Given the description of an element on the screen output the (x, y) to click on. 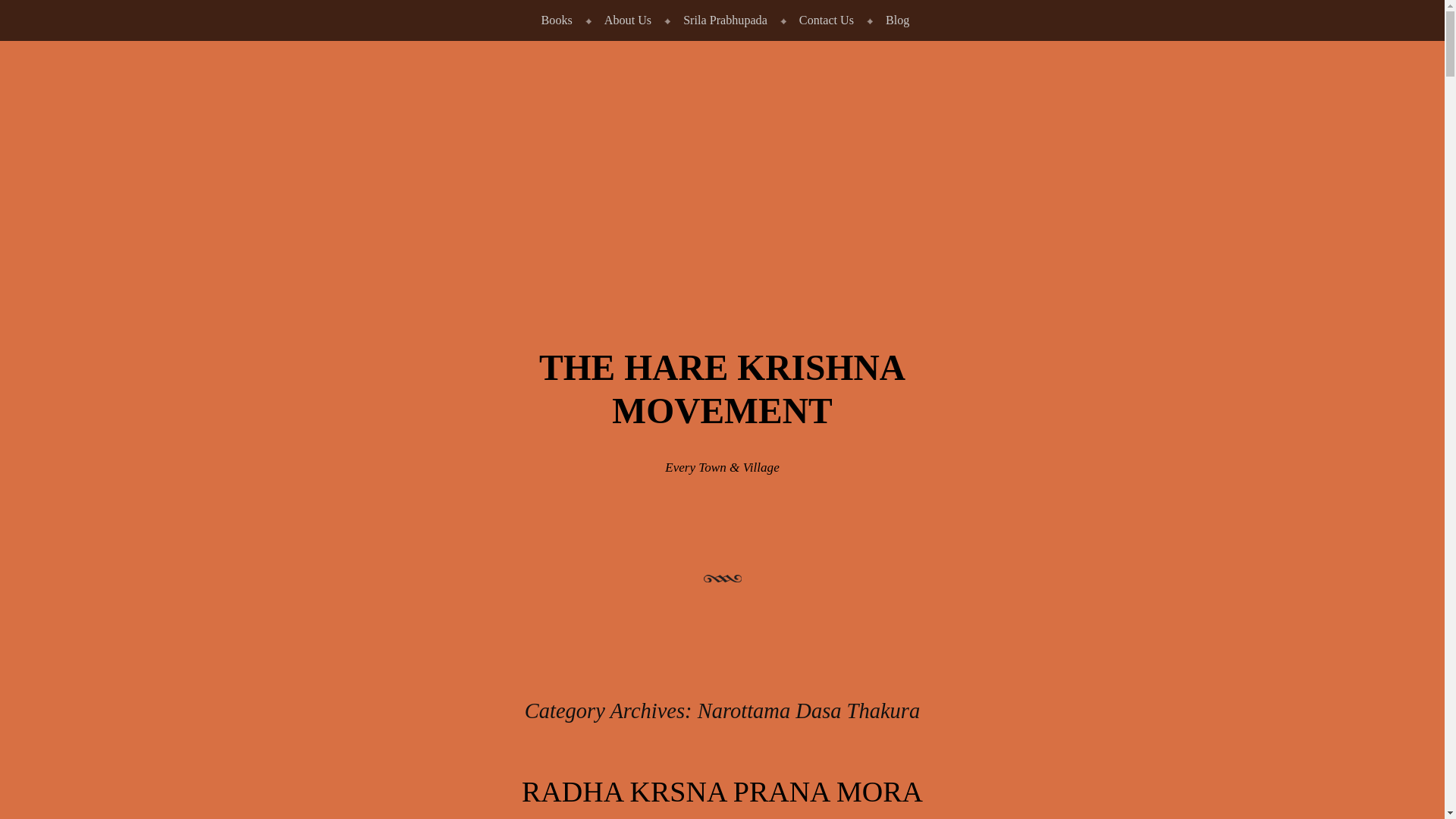
THE HARE KRISHNA MOVEMENT (721, 389)
Srila Prabhupada (721, 20)
About Us (624, 20)
Contact Us (823, 20)
Skip to content (37, 11)
Blog (893, 20)
The Hare Krishna Movement (721, 389)
RADHA KRSNA PRANA MORA (722, 791)
Search (34, 16)
Skip to content (37, 11)
